Given the description of an element on the screen output the (x, y) to click on. 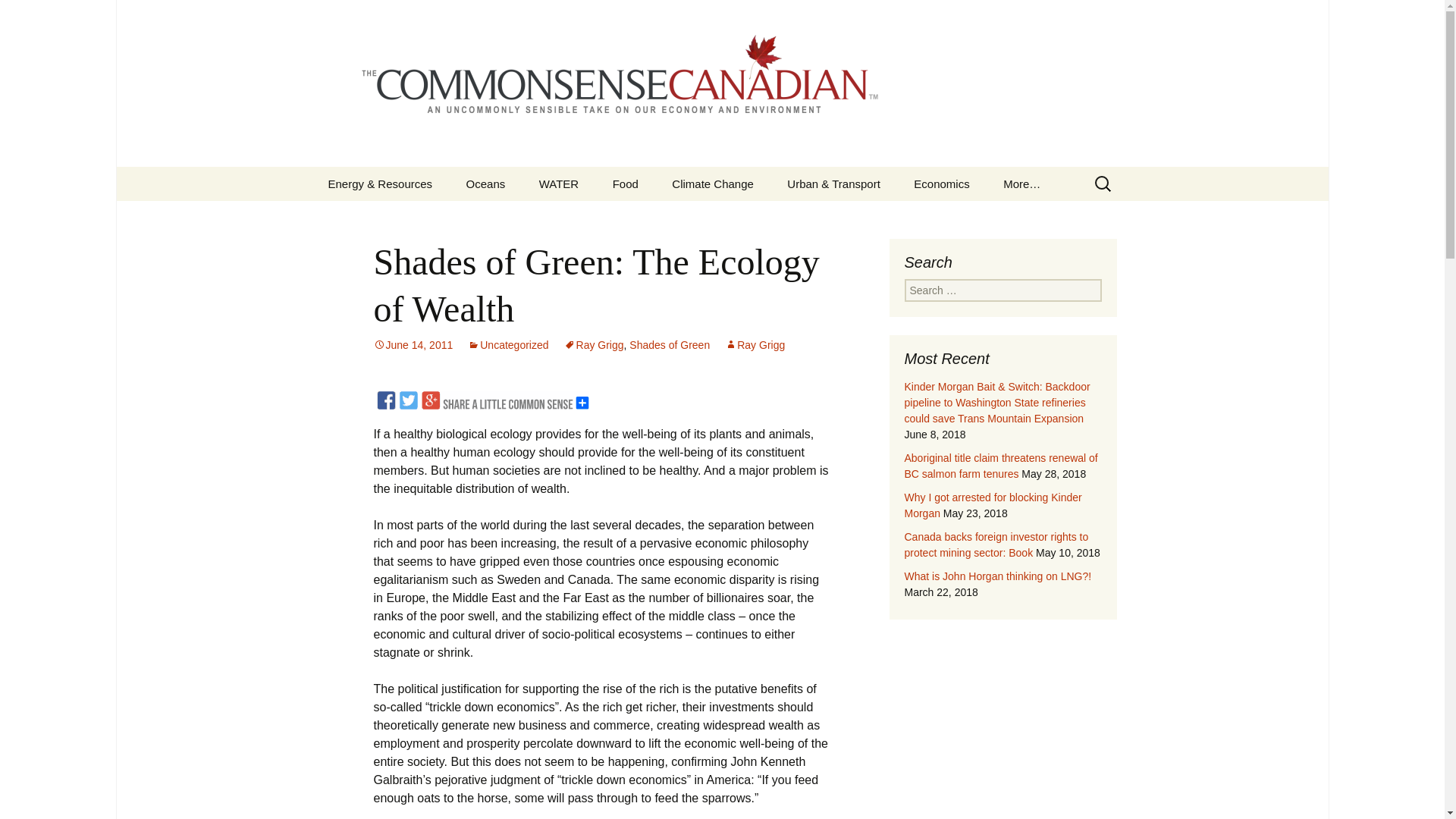
Permalink to Shades of Green: The Ecology of Wealth (412, 345)
Farmland and Food Security (672, 223)
Climate Change (712, 183)
Hydropower (599, 217)
Health and Environment (1064, 223)
View all posts by Ray Grigg (754, 345)
Fisheries (526, 217)
Food (624, 183)
Economics (941, 183)
